Given the description of an element on the screen output the (x, y) to click on. 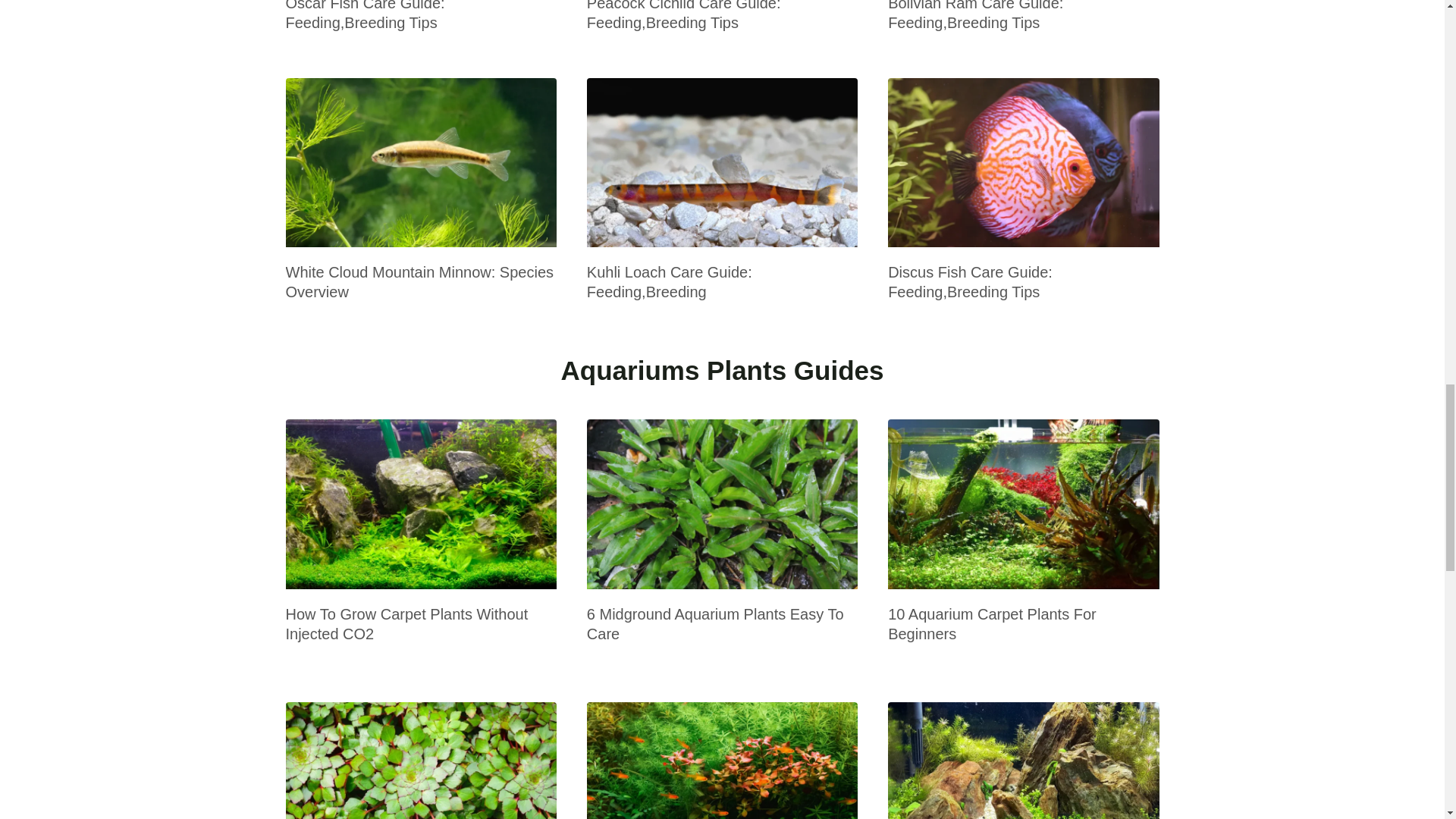
Kuhli Loach Care Guide: Feeding,Breeding (669, 281)
Peacock Cichlid Care Guide: Feeding,Breeding Tips (683, 15)
Discus Fish Care Guide: Feeding,Breeding Tips (970, 281)
Oscar Fish Care Guide: Feeding,Breeding Tips (364, 15)
White Cloud Mountain Minnow: Species Overview (419, 281)
How To Grow Carpet Plants Without Injected CO2 (406, 624)
Bolivian Ram Care Guide: Feeding,Breeding Tips (975, 15)
